Given the description of an element on the screen output the (x, y) to click on. 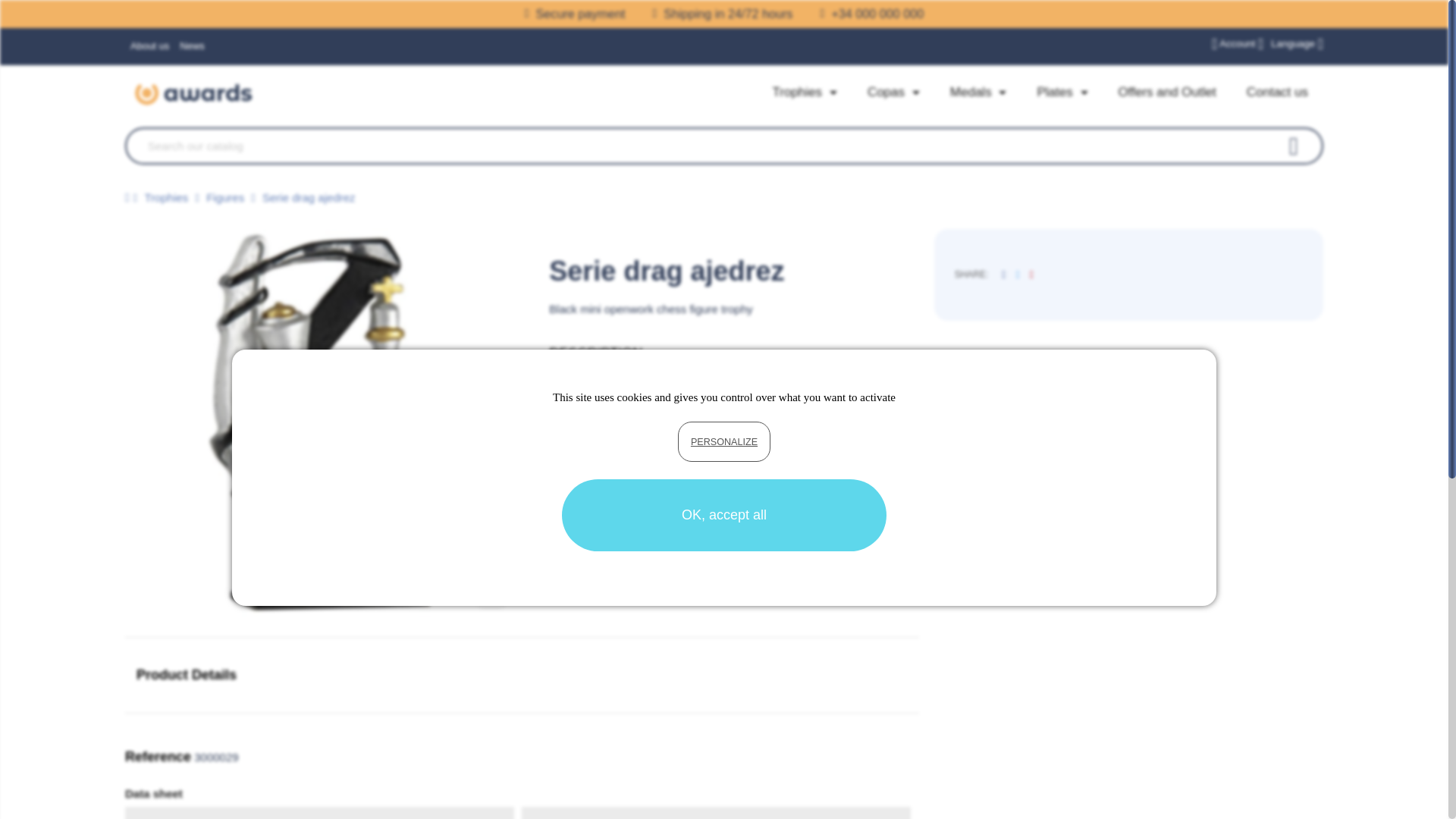
Trophies (804, 92)
Medals (978, 92)
Trophies (167, 196)
Offers and Outlet (1167, 92)
Contact us (1277, 92)
Plates (1062, 92)
Account (1237, 43)
Figures (226, 196)
Copas (892, 92)
Language (1297, 43)
About us (149, 45)
News (192, 45)
